Given the description of an element on the screen output the (x, y) to click on. 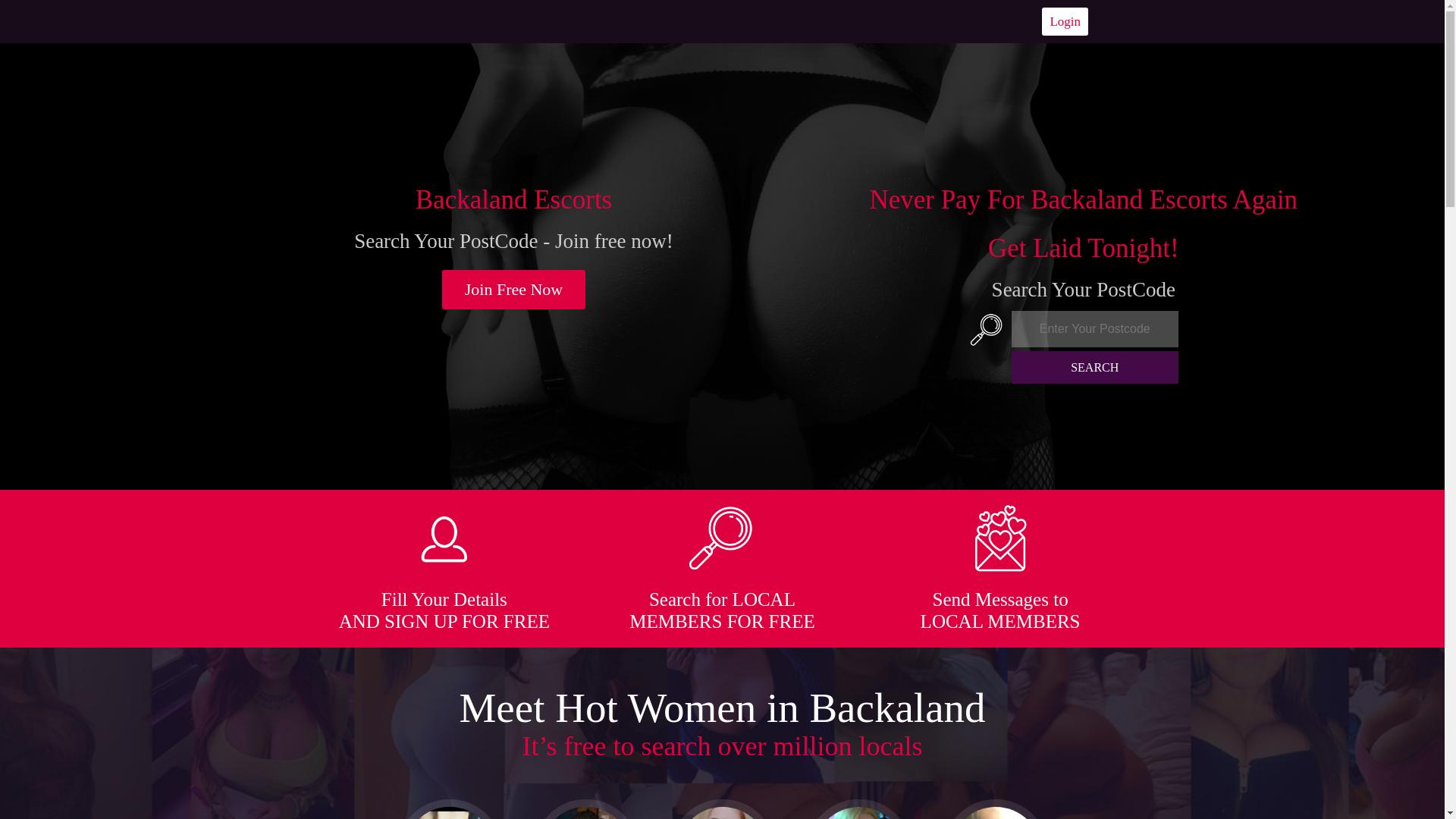
Join (514, 289)
Join Free Now (514, 289)
SEARCH (1094, 367)
Login (1064, 21)
Login (1064, 21)
